Given the description of an element on the screen output the (x, y) to click on. 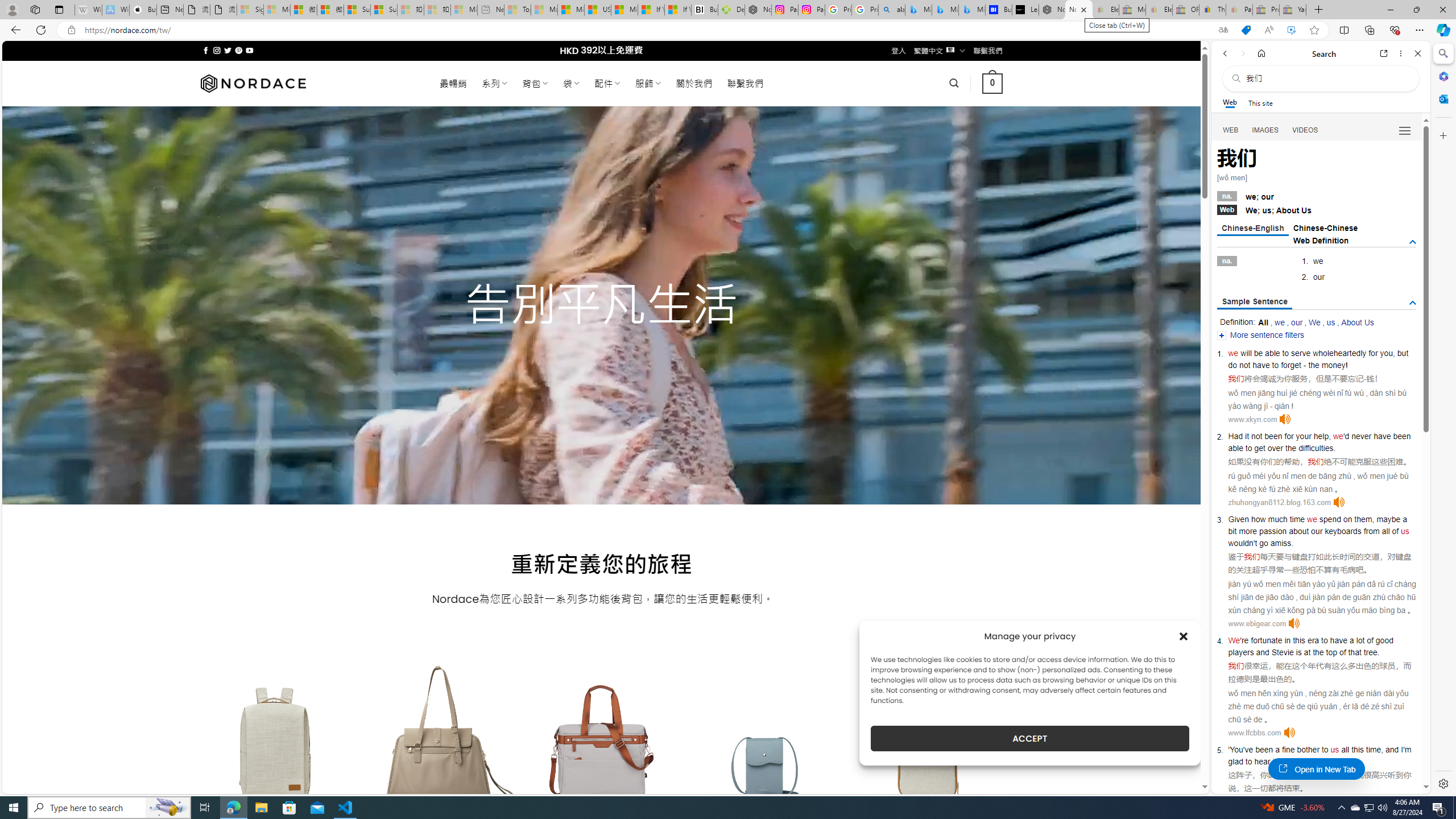
good (1384, 640)
Enhance video (1291, 29)
Follow on Twitter (227, 50)
our (1296, 322)
US Heat Deaths Soared To Record High Last Year (597, 9)
about (1298, 530)
Marine life - MSN - Sleeping (543, 9)
Microsoft Bing Travel - Shangri-La Hotel Bangkok (971, 9)
Sign in to your Microsoft account - Sleeping (249, 9)
all (1344, 749)
